Given the description of an element on the screen output the (x, y) to click on. 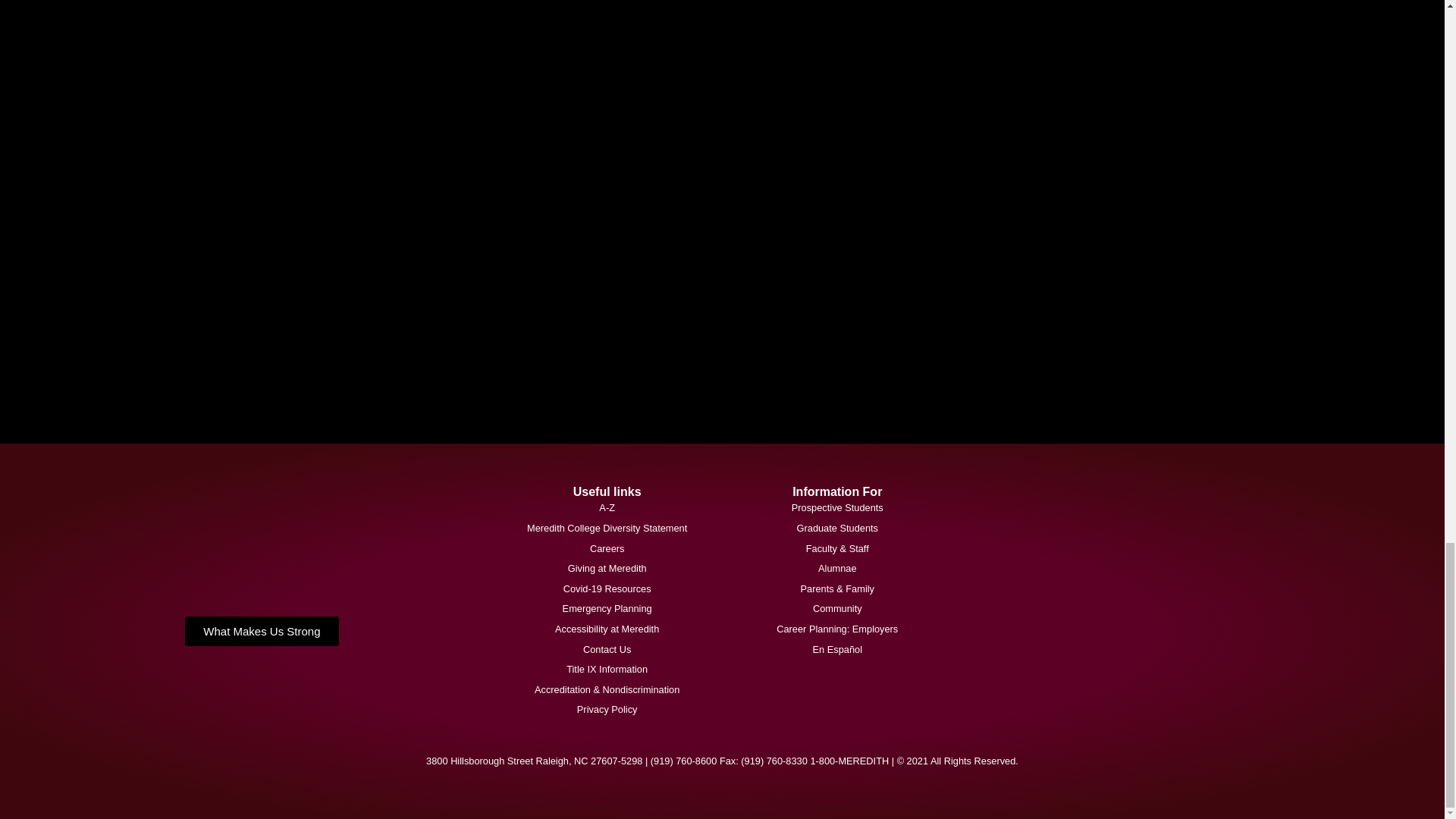
fi-social-twitter-rev (565, 105)
fi-social-youtube-rev (565, 363)
fi-social-facebook-rev (565, 17)
What Makes Us Strong (260, 631)
fi-social-instagram-rev (565, 234)
